Given the description of an element on the screen output the (x, y) to click on. 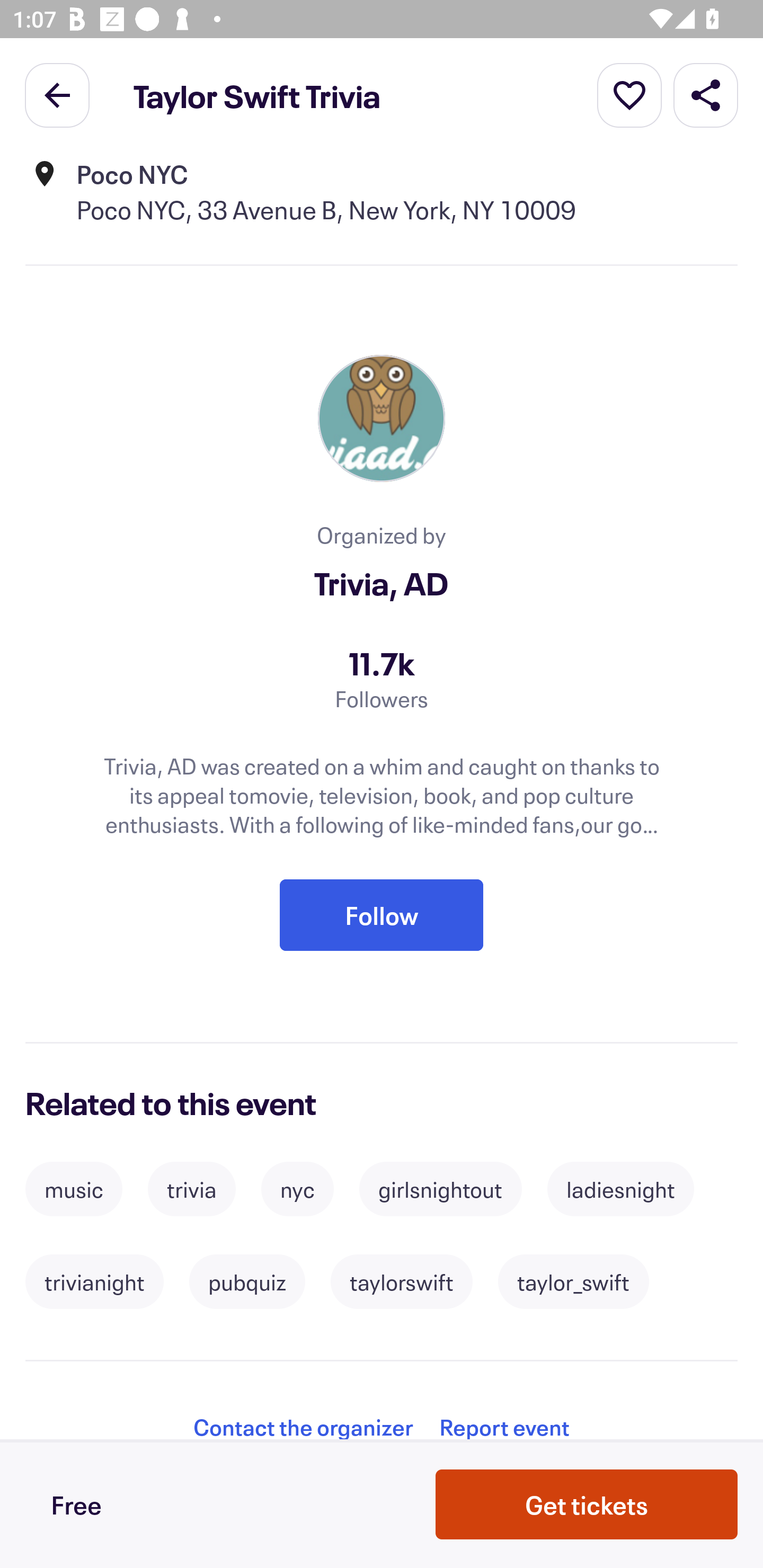
Back (57, 94)
More (629, 94)
Share (705, 94)
Organizer profile picture (381, 417)
Trivia, AD (381, 582)
Follow (381, 914)
music (73, 1188)
trivia (191, 1188)
nyc (297, 1188)
girlsnightout (440, 1188)
ladiesnight (620, 1188)
trivianight (94, 1281)
pubquiz (247, 1281)
taylorswift (401, 1281)
taylor_swift (573, 1281)
Contact the organizer (303, 1426)
Report event (504, 1426)
Get tickets (586, 1504)
